Given the description of an element on the screen output the (x, y) to click on. 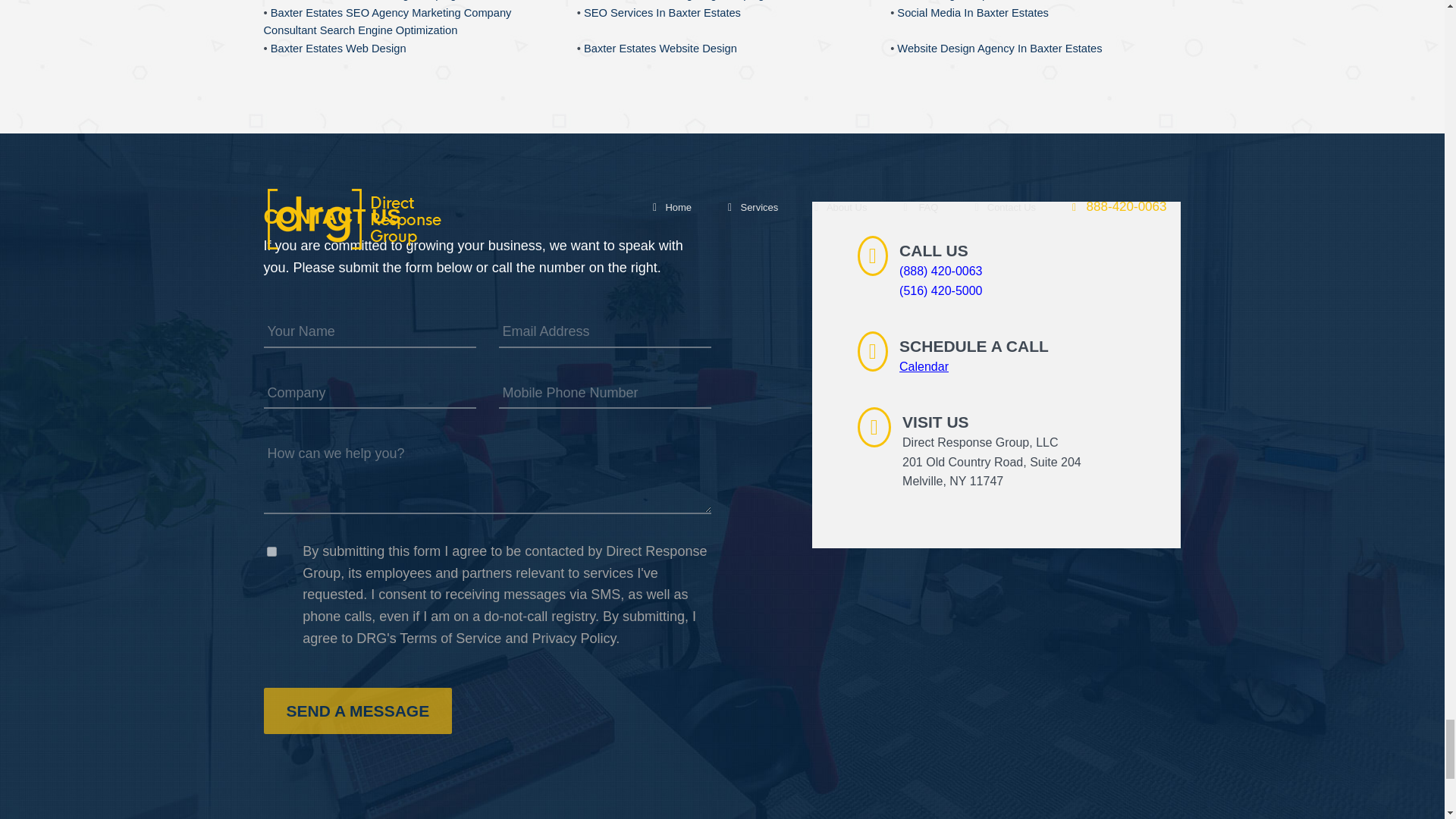
on (272, 551)
